Given the description of an element on the screen output the (x, y) to click on. 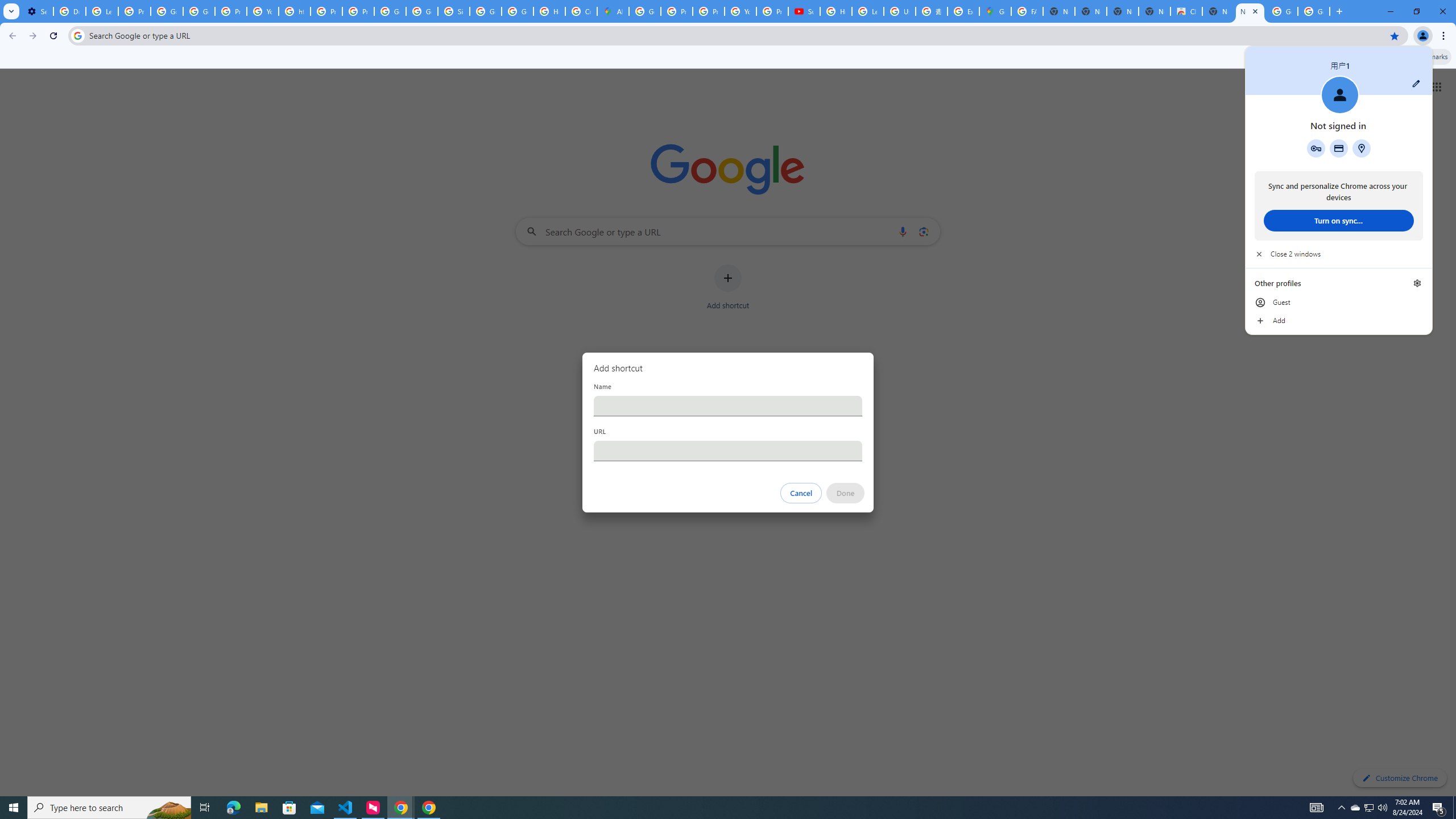
Done (845, 493)
Google Password Manager (1315, 148)
Running applications (717, 807)
Customize profile (1415, 83)
URL (727, 450)
Action Center, 5 new notifications (1439, 807)
Chrome Web Store (1185, 11)
Create your Google Account (581, 11)
AutomationID: 4105 (1316, 807)
